Given the description of an element on the screen output the (x, y) to click on. 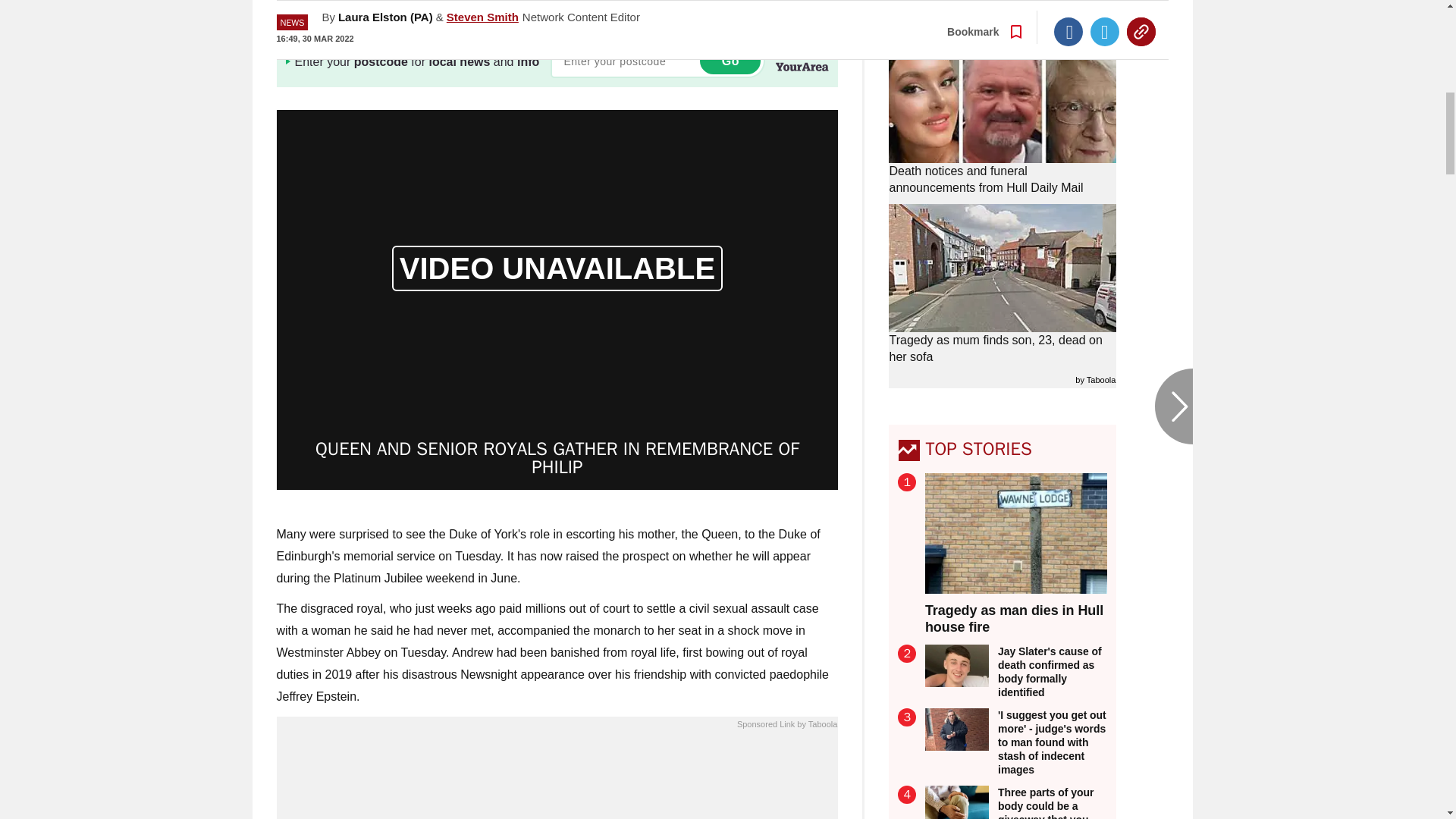
Travel To These 15 Bucket List Worthy Beaches (557, 778)
Facebook (1068, 2)
Go (730, 60)
Twitter (1104, 2)
